Given the description of an element on the screen output the (x, y) to click on. 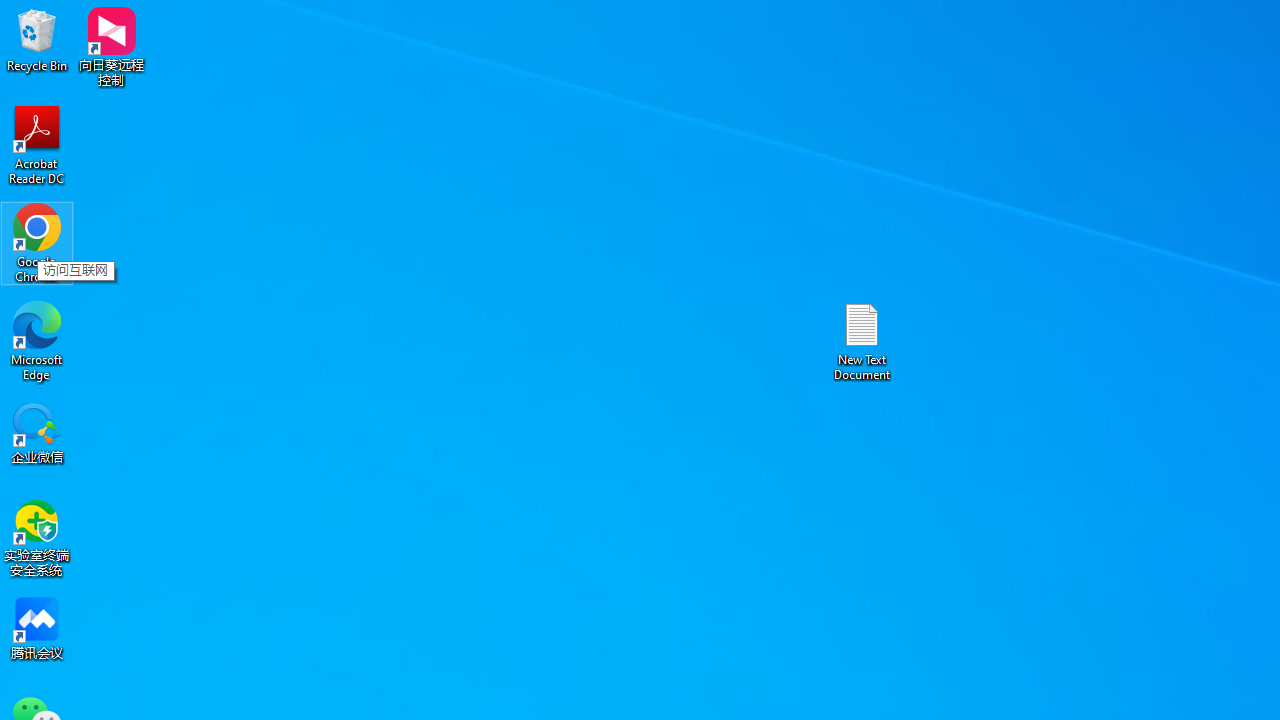
Microsoft Edge (37, 340)
Recycle Bin (37, 39)
Acrobat Reader DC (37, 144)
New Text Document (861, 340)
Google Chrome (37, 242)
